Given the description of an element on the screen output the (x, y) to click on. 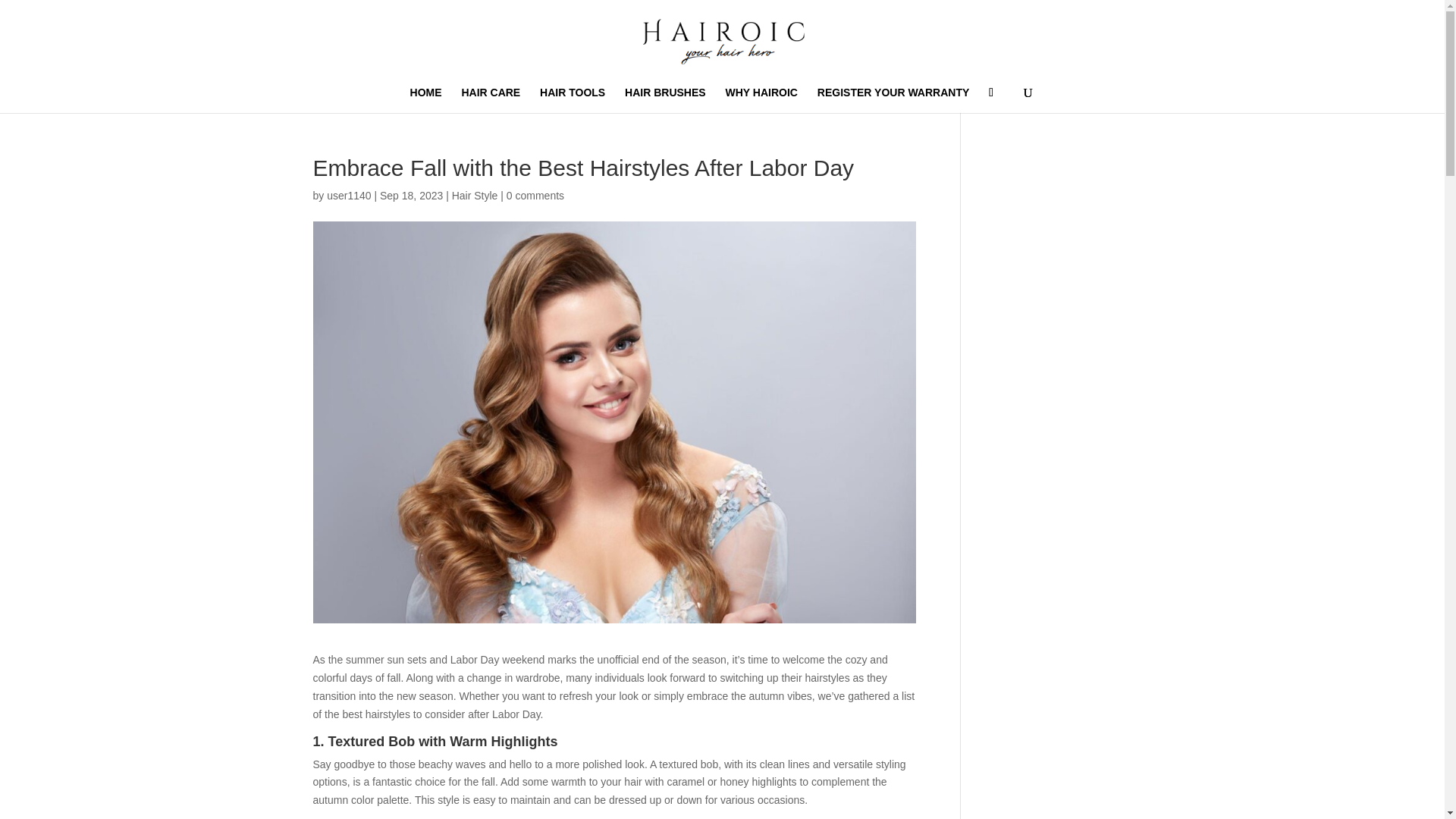
REGISTER YOUR WARRANTY (892, 99)
HAIR TOOLS (572, 99)
Hair Style (474, 195)
HAIR BRUSHES (665, 99)
HAIR CARE (490, 99)
HOME (426, 99)
WHY HAIROIC (761, 99)
0 comments (535, 195)
Posts by user1140 (348, 195)
user1140 (348, 195)
